Given the description of an element on the screen output the (x, y) to click on. 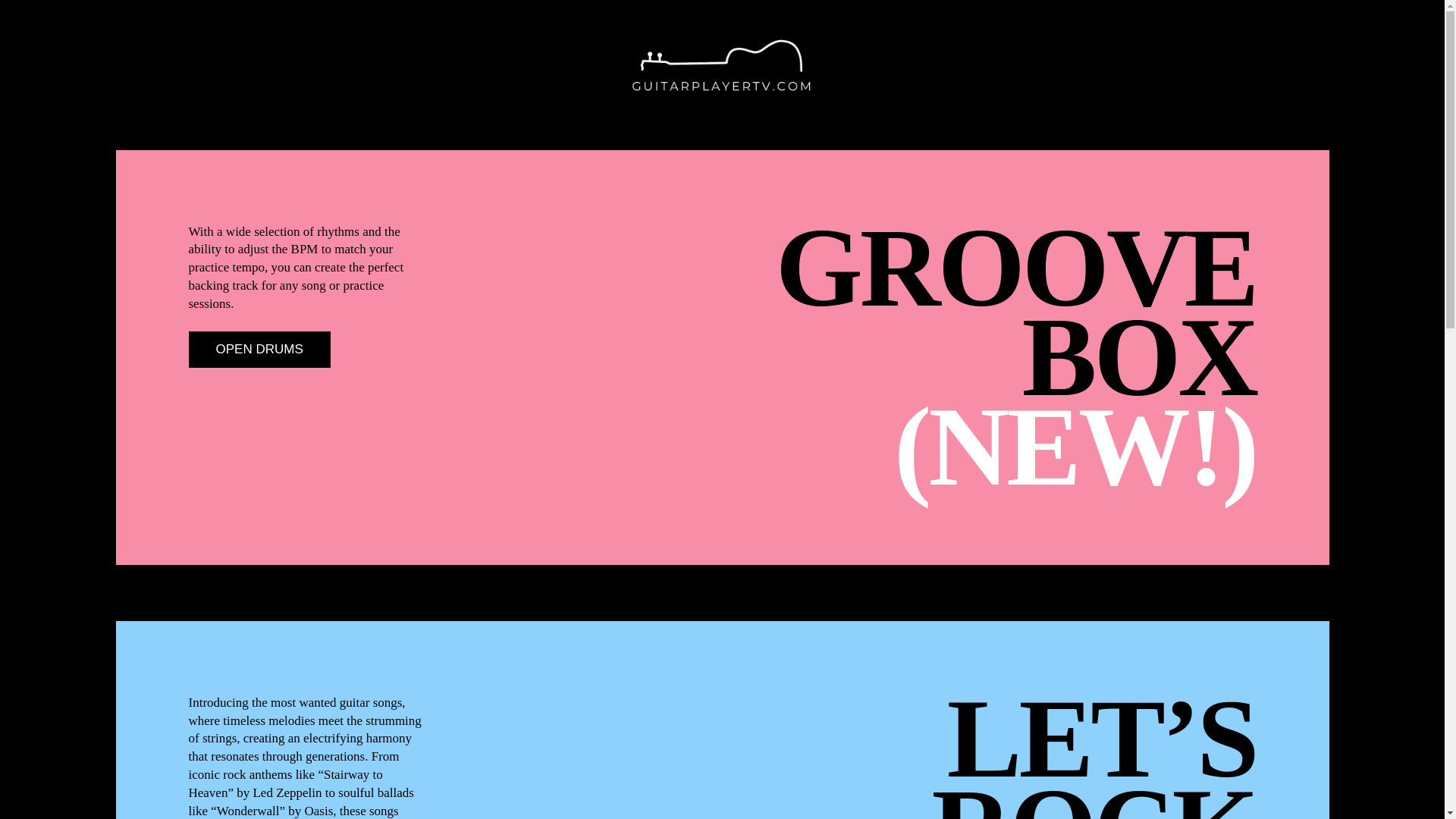
OPEN DRUMS (258, 349)
